Given the description of an element on the screen output the (x, y) to click on. 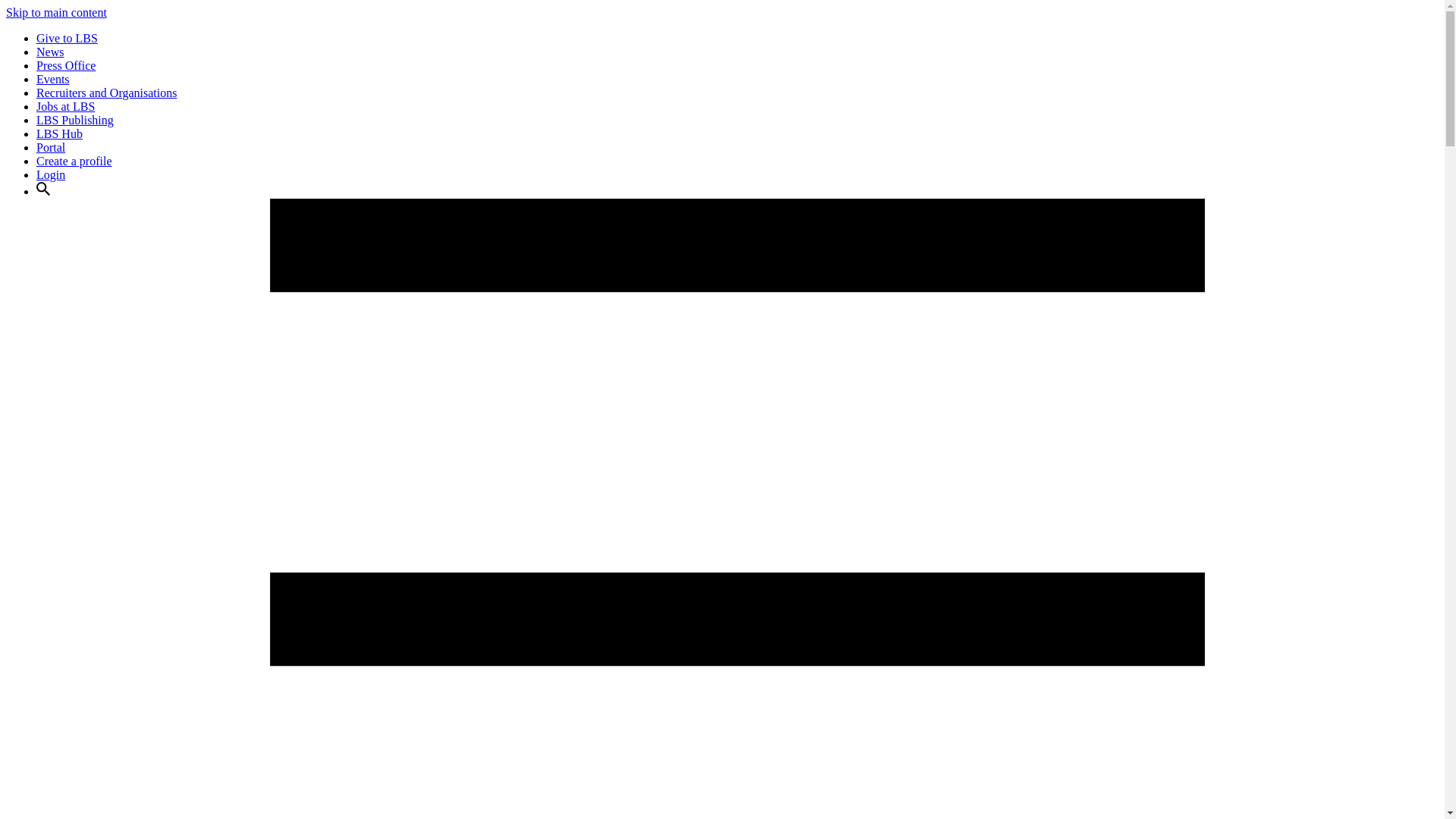
News (50, 51)
Recruiters and Organisations (106, 92)
Login (50, 174)
LBS Hub (59, 133)
Skip to main content (55, 11)
Give to LBS (66, 38)
Portal (50, 146)
LBS Publishing (74, 119)
Events (52, 78)
Jobs at LBS (65, 106)
